Given the description of an element on the screen output the (x, y) to click on. 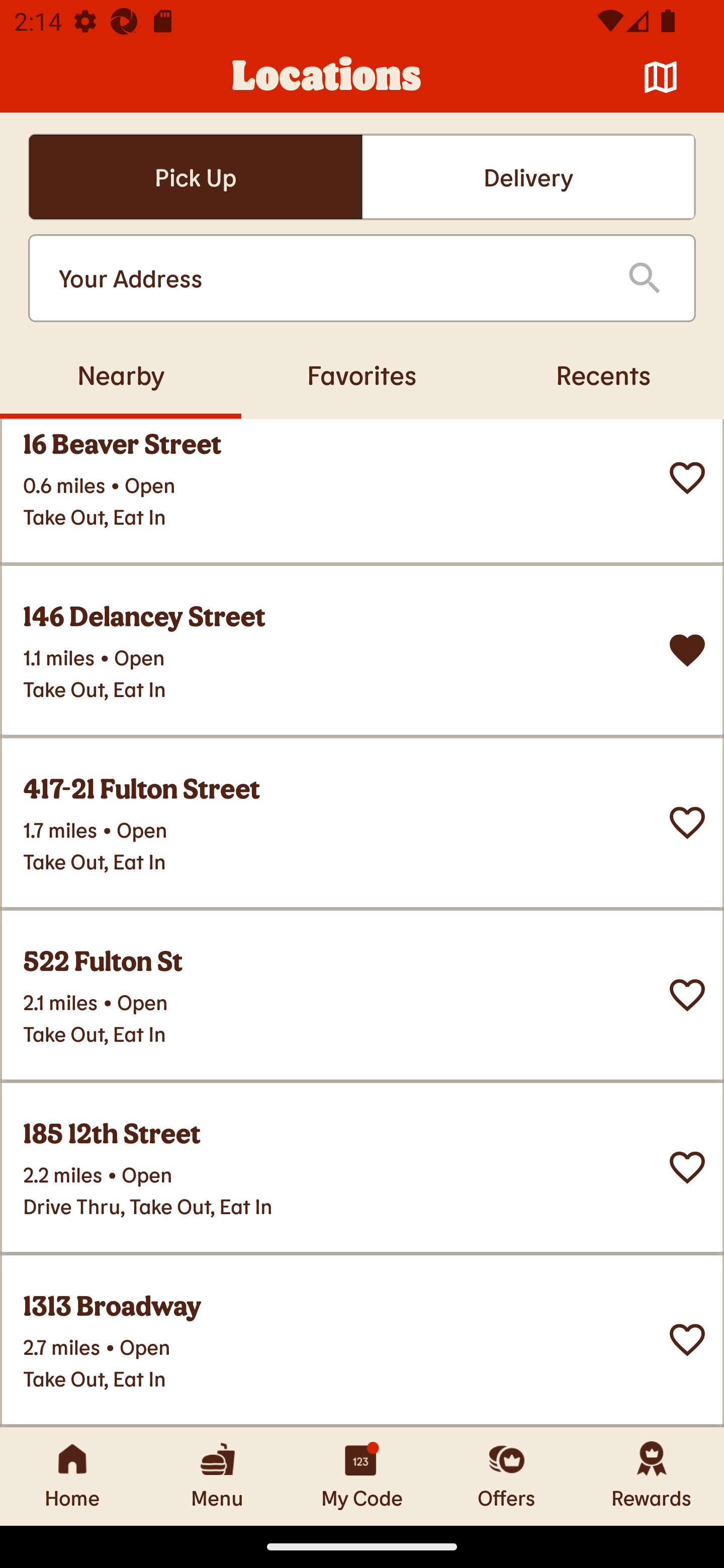
Map 󰦂 (660, 77)
Locations (326, 77)
Pick UpSelected Pick UpSelected Pick Up (195, 176)
Delivery Delivery Delivery (528, 176)
Your Address (327, 277)
Nearby (120, 374)
Favorites (361, 374)
Recents (603, 374)
Set this restaurant as a favorite  (687, 477)
Remove from Favorites?  (687, 649)
Set this restaurant as a favorite  (687, 822)
Set this restaurant as a favorite  (687, 994)
Set this restaurant as a favorite  (687, 1167)
Set this restaurant as a favorite  (687, 1339)
Home (72, 1475)
Menu (216, 1475)
My Code (361, 1475)
Offers (506, 1475)
Rewards (651, 1475)
